Given the description of an element on the screen output the (x, y) to click on. 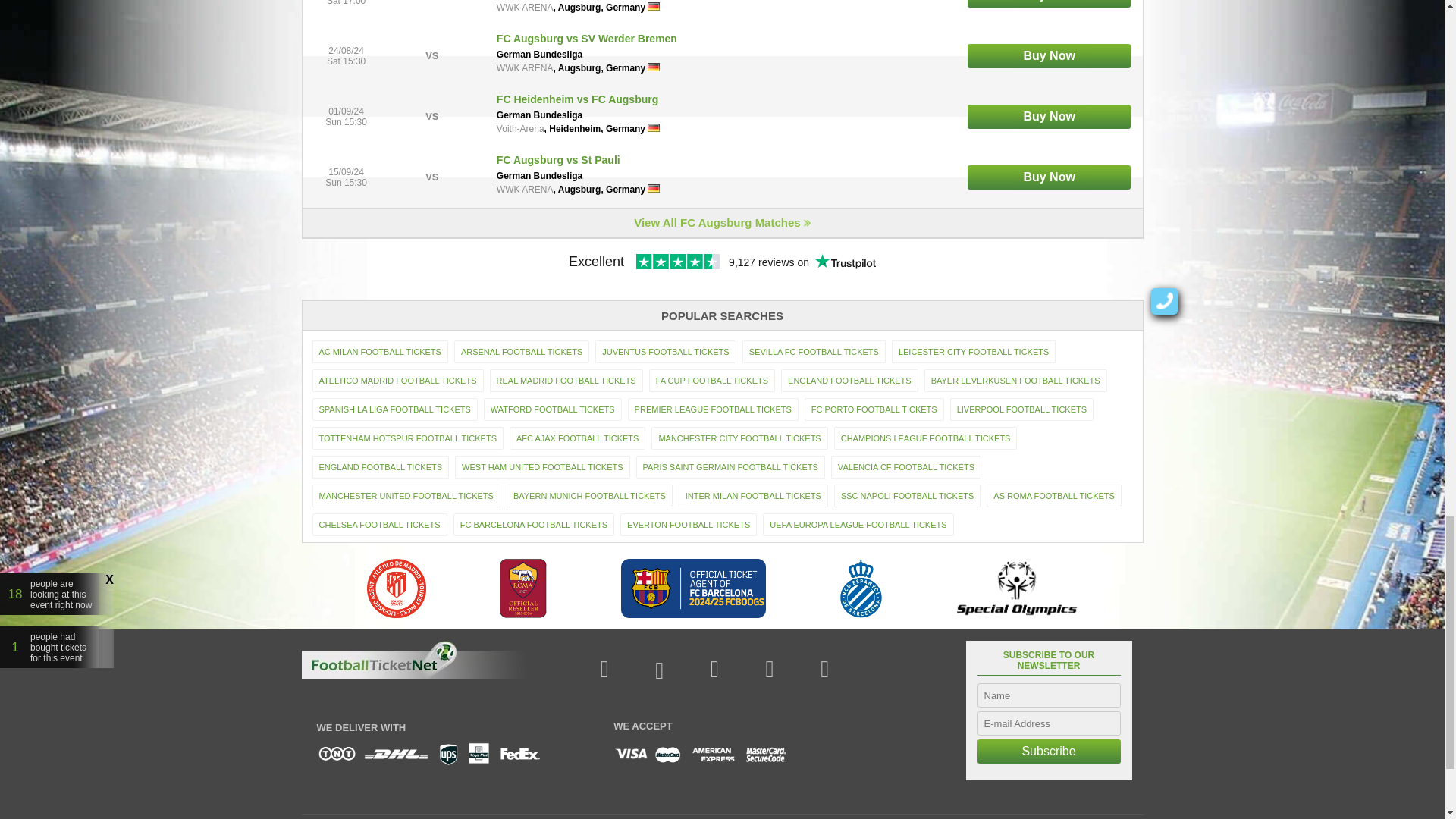
Subscribe (1047, 751)
